Given the description of an element on the screen output the (x, y) to click on. 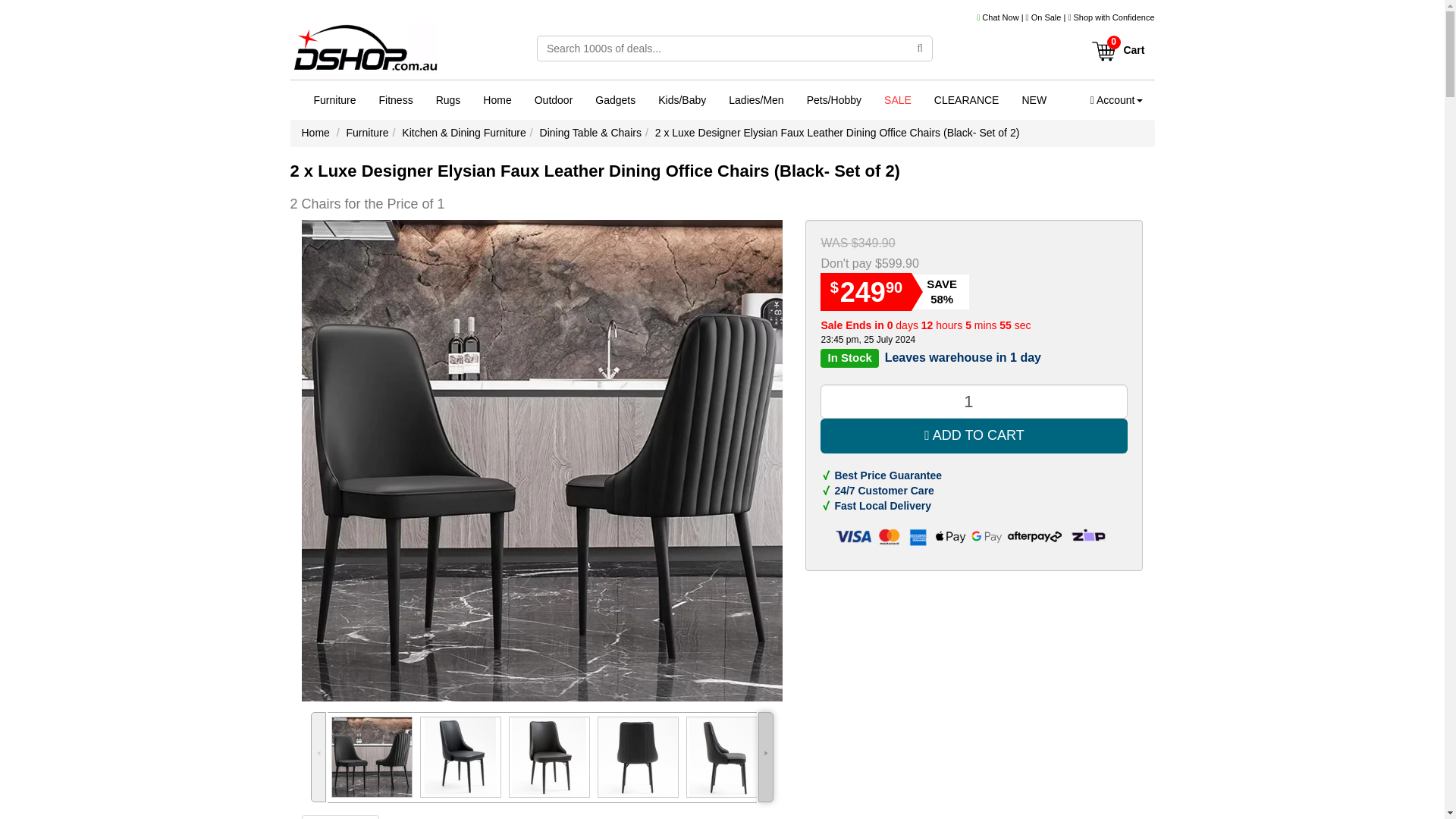
Shop with Confidence (1113, 17)
Furniture (333, 99)
0 Cart (1117, 45)
 Chat Now (998, 17)
On Sale (1045, 17)
1 (973, 401)
Search (920, 48)
Dshop (364, 51)
